Given the description of an element on the screen output the (x, y) to click on. 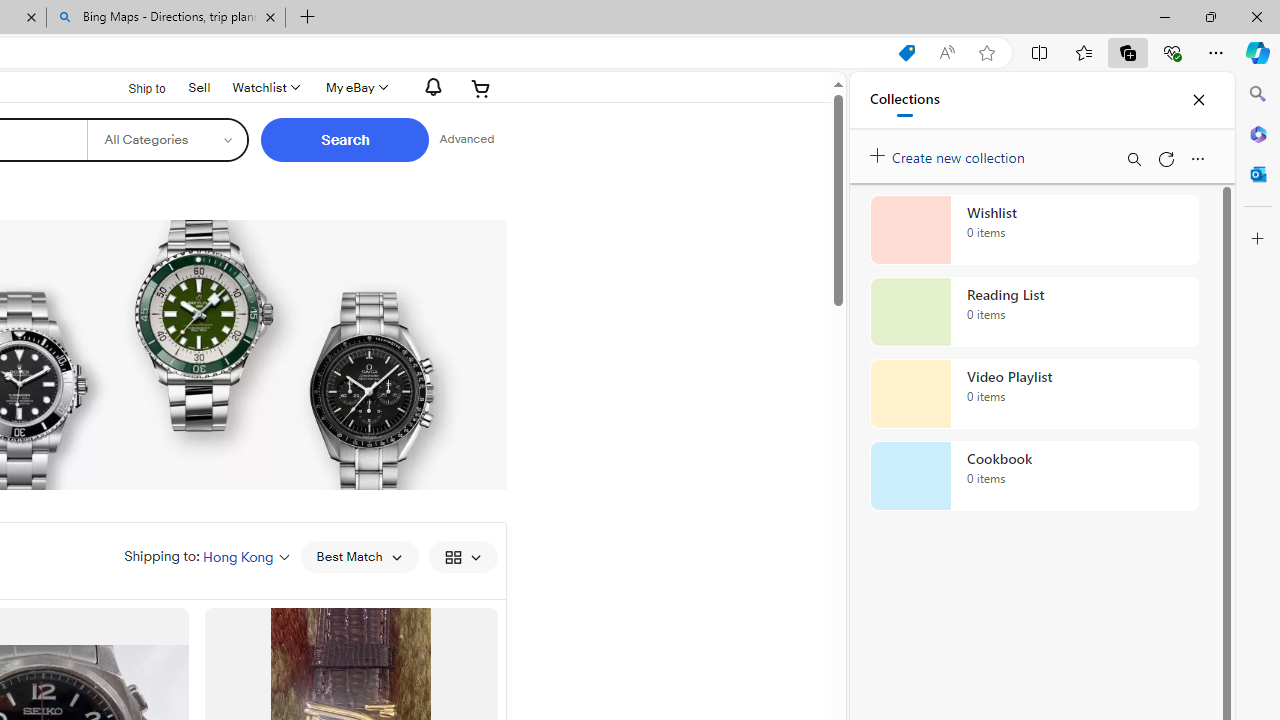
Advanced Search (466, 139)
Read aloud this page (Ctrl+Shift+U) (946, 53)
View: Gallery View (462, 556)
My eBay (354, 88)
Watchlist (264, 88)
More options menu (1197, 158)
This site has coupons! Shopping in Microsoft Edge, 20 (906, 53)
Your shopping cart (481, 88)
Search (1258, 94)
Sort: Best Match (358, 556)
